Given the description of an element on the screen output the (x, y) to click on. 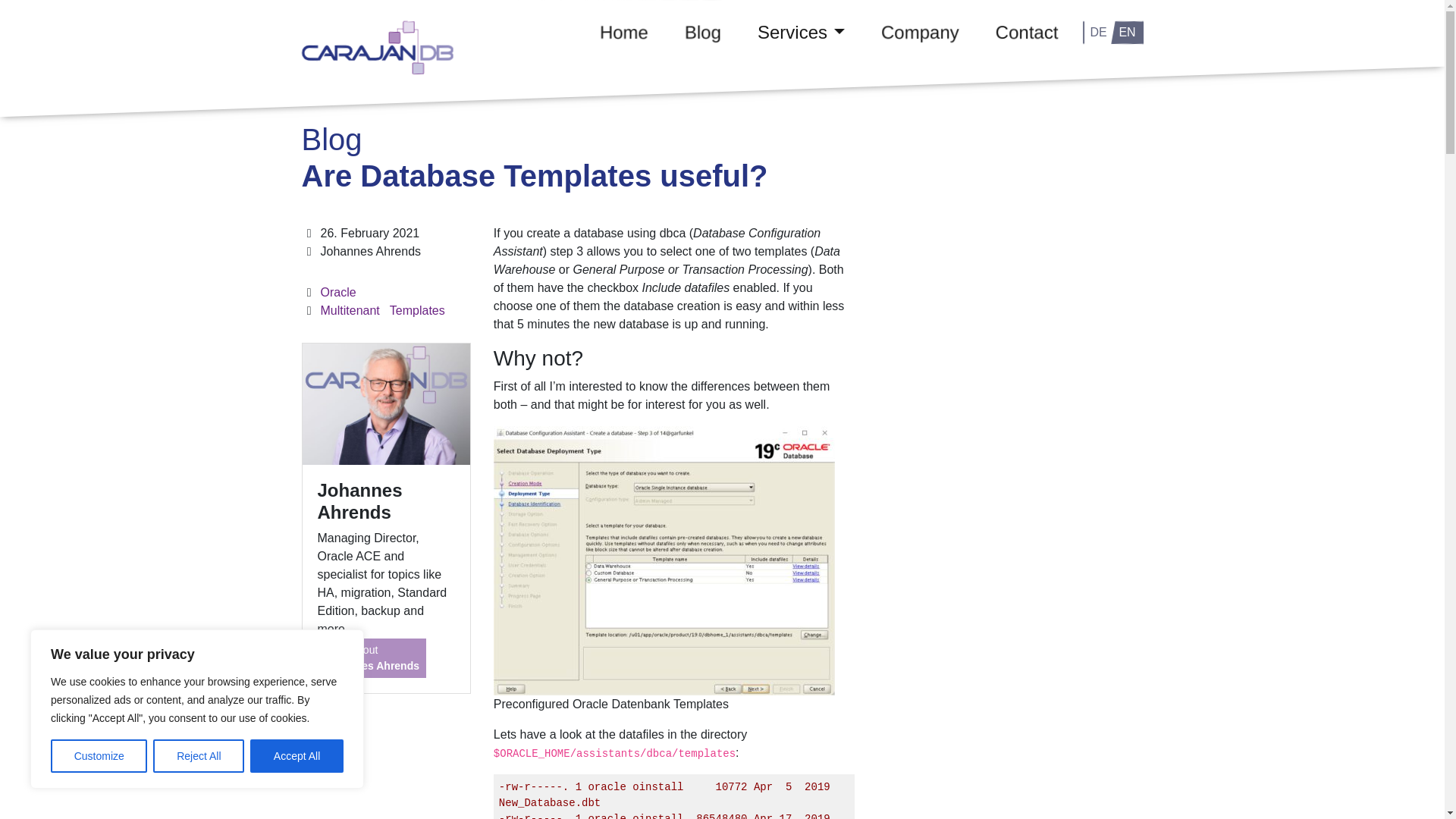
Customize (98, 756)
Home (623, 32)
DE (1097, 32)
EN (1126, 32)
Services (801, 32)
Company (919, 32)
Blog (702, 32)
Blog (702, 32)
Home (623, 32)
Services (371, 658)
Reject All (801, 32)
Templates (198, 756)
CarajanDB (417, 309)
